Given the description of an element on the screen output the (x, y) to click on. 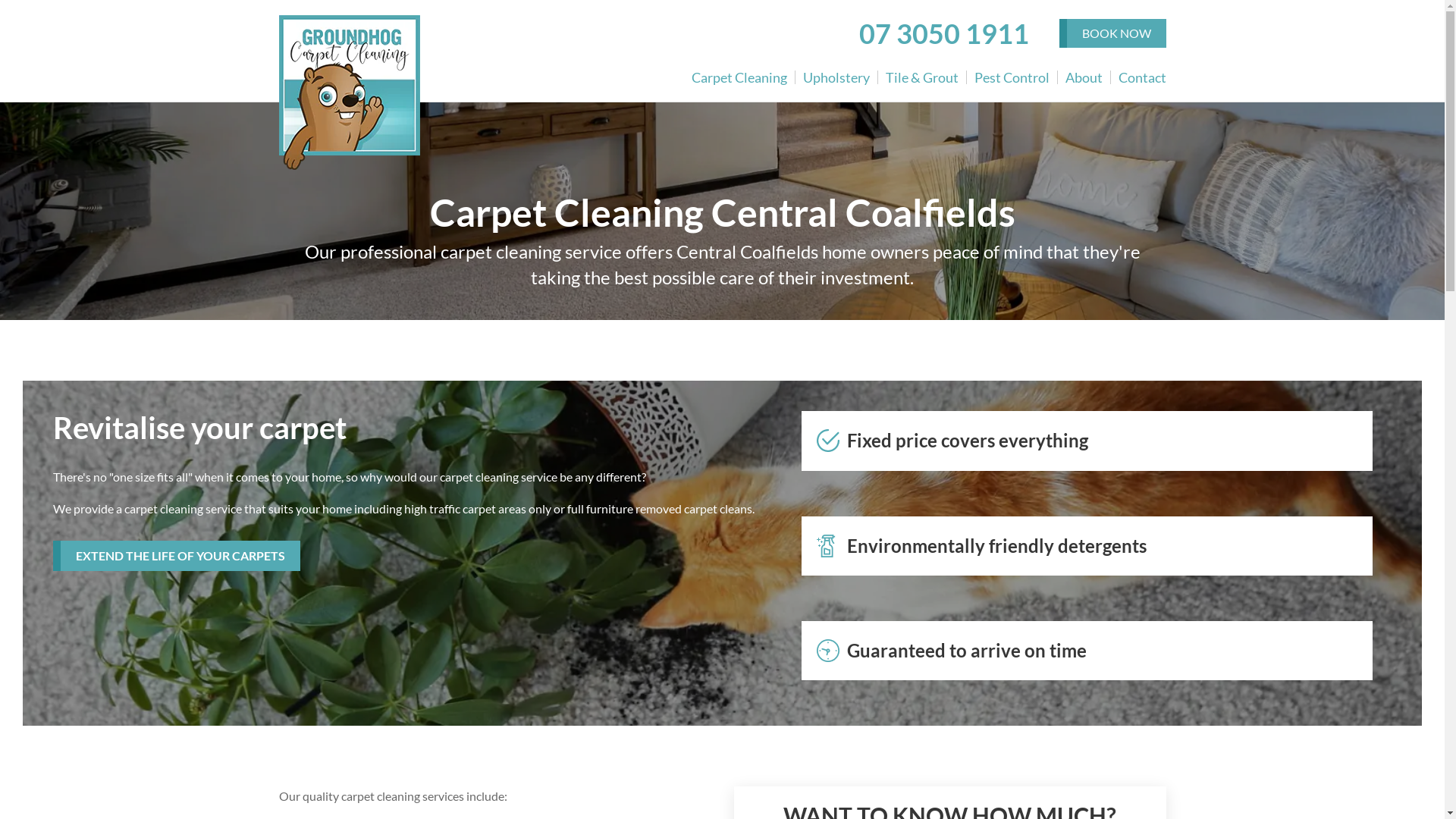
Carpet Cleaning Element type: text (743, 77)
Groundhog Carpet Cleaning Element type: hover (349, 92)
BOOK NOW Element type: text (1111, 32)
About Element type: text (1083, 77)
Upholstery Element type: text (835, 77)
Pest Control Element type: text (1011, 77)
07 3050 1911 Element type: text (943, 33)
Contact Element type: text (1137, 77)
Tile & Grout Element type: text (922, 77)
EXTEND THE LIFE OF YOUR CARPETS Element type: text (176, 555)
